Given the description of an element on the screen output the (x, y) to click on. 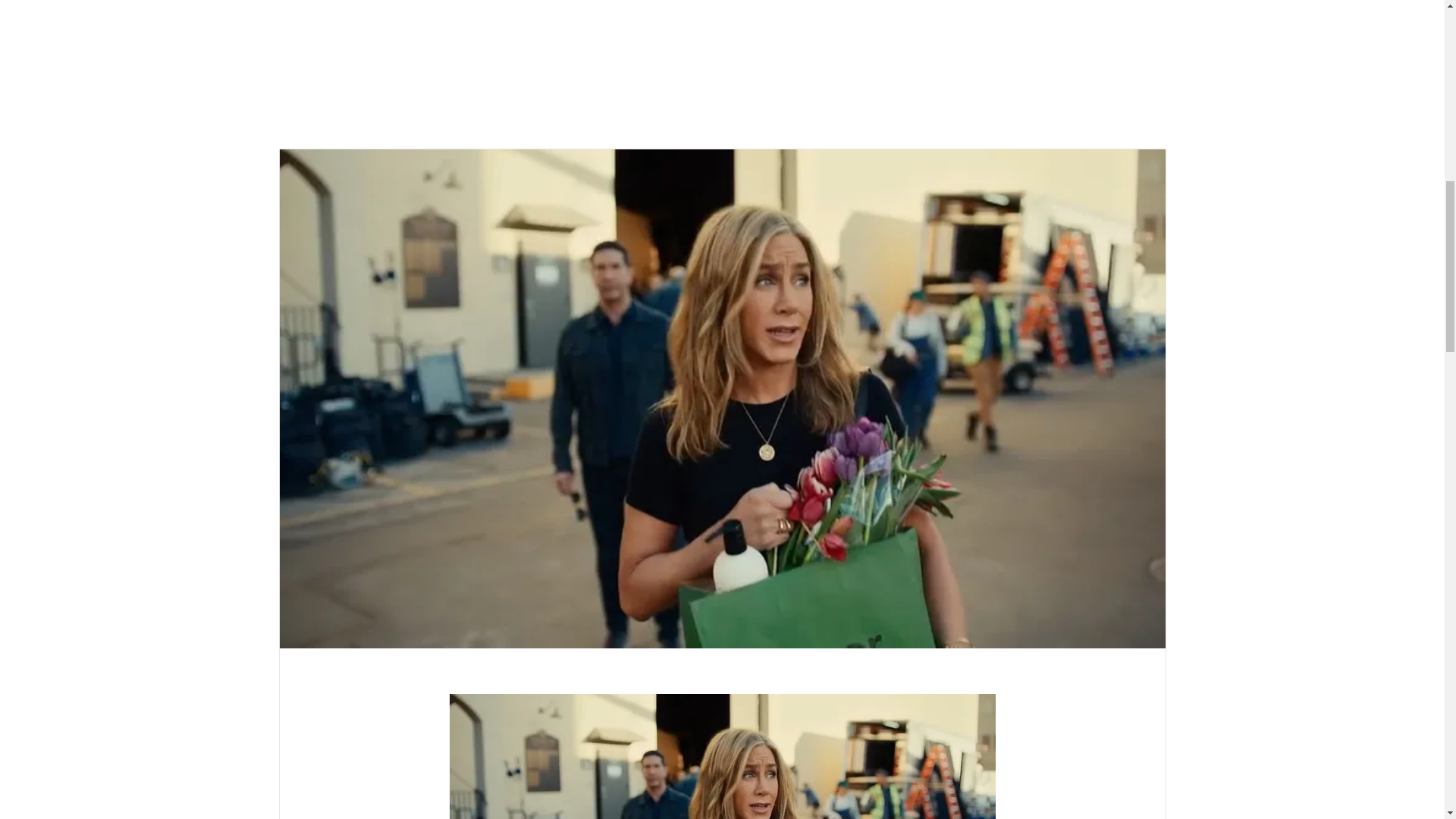
Advertisement (722, 63)
